Given the description of an element on the screen output the (x, y) to click on. 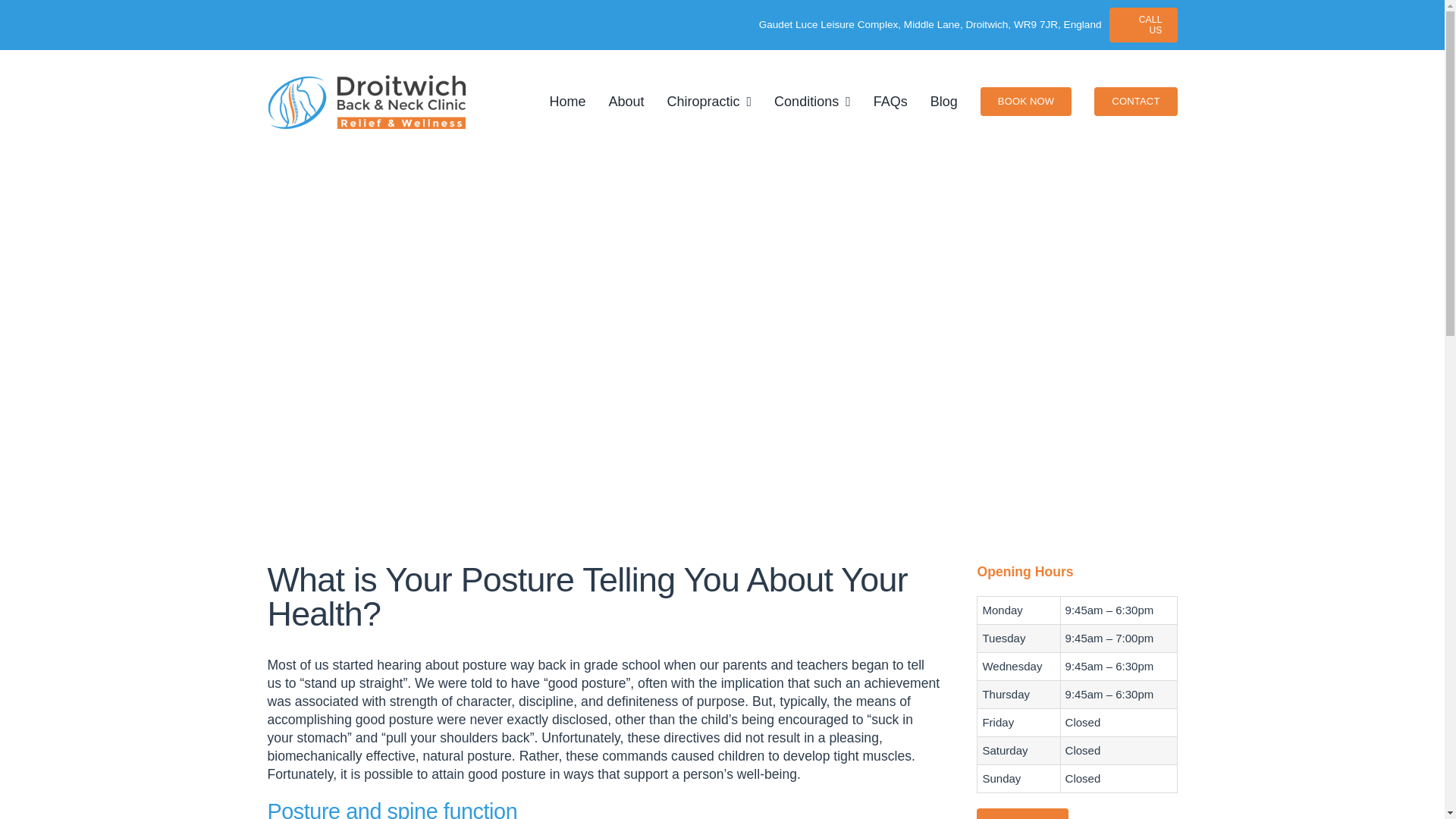
Home (566, 101)
CONTACT (1135, 101)
CALL US (1142, 24)
Conditions (812, 101)
Chiropractic (709, 101)
FAQs (890, 101)
BOOK NOW (1025, 101)
BOOK NOW (1022, 813)
Blog (944, 101)
